Given the description of an element on the screen output the (x, y) to click on. 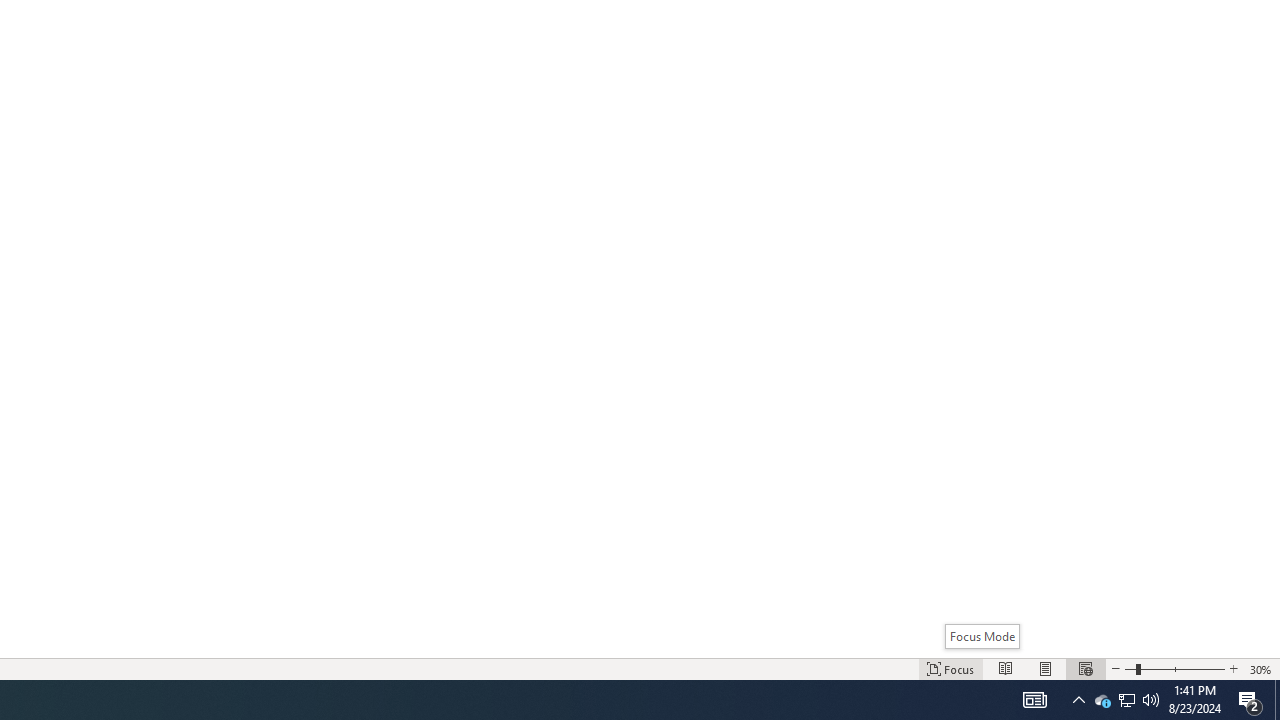
Focus Mode (982, 636)
Zoom 30% (1261, 668)
